Given the description of an element on the screen output the (x, y) to click on. 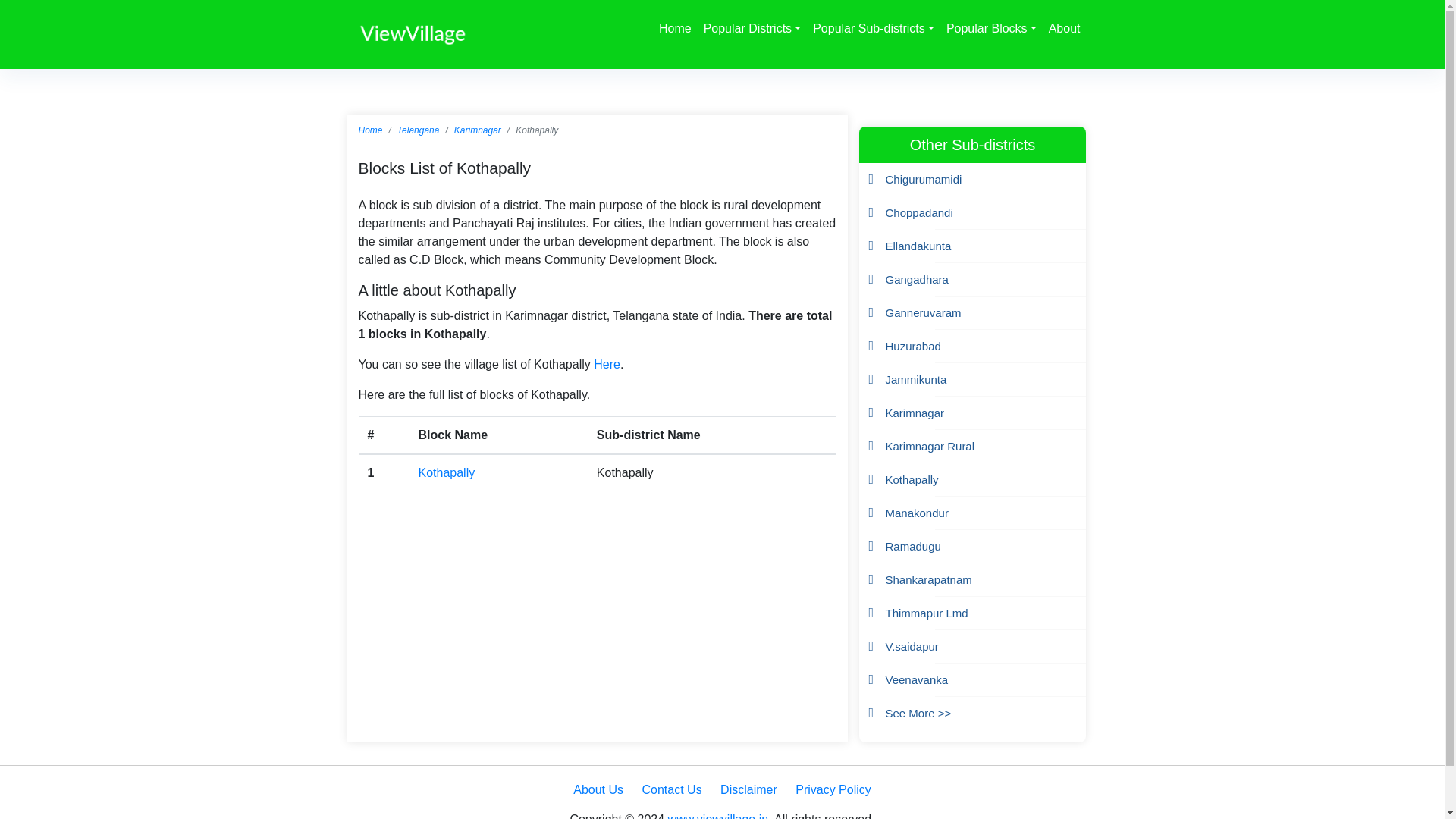
Chigurumamidi (923, 178)
Karimnagar Rural (930, 445)
Karimnagar (914, 412)
Jammikunta (916, 379)
Popular Sub-districts (873, 28)
Choppadandi (919, 212)
Shankarapatnam (928, 579)
Karimnagar (477, 130)
Home (674, 28)
Ganneruvaram (922, 312)
Home (369, 130)
Here (607, 364)
Ellandakunta (918, 245)
Manakondur (917, 512)
Ramadugu (912, 545)
